Given the description of an element on the screen output the (x, y) to click on. 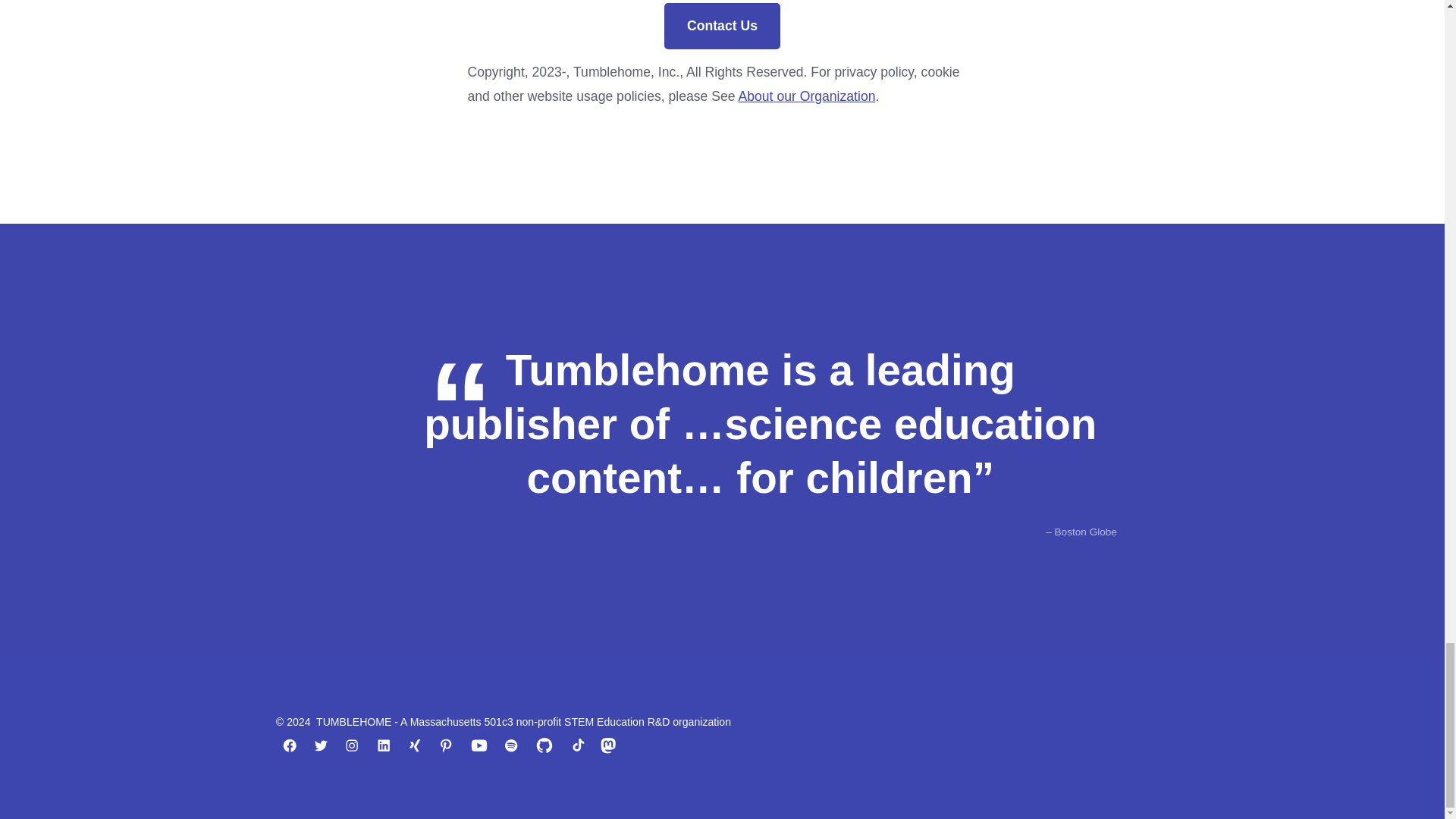
Open Instagram in a new tab (351, 745)
Contact Us (720, 26)
Open TikTok in a new tab (577, 745)
Open YouTube in a new tab (479, 745)
Open Pinterest in a new tab (446, 745)
Open Facebook in a new tab (289, 745)
Open Twitter in a new tab (320, 745)
Open Spotify in a new tab (510, 745)
Open Xing in a new tab (414, 745)
Open GitHub in a new tab (544, 745)
